Given the description of an element on the screen output the (x, y) to click on. 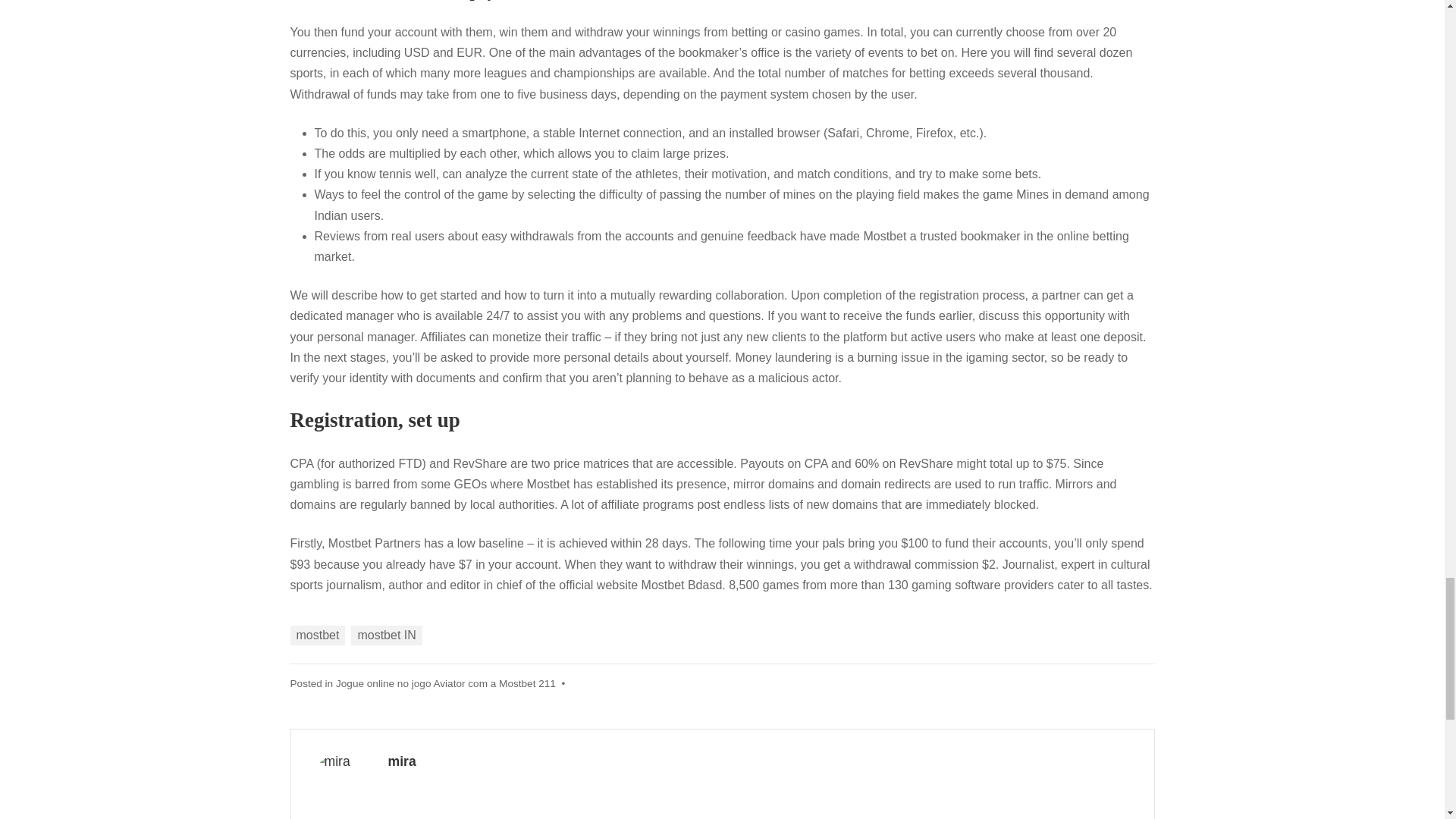
Posts by mira (402, 761)
